Given the description of an element on the screen output the (x, y) to click on. 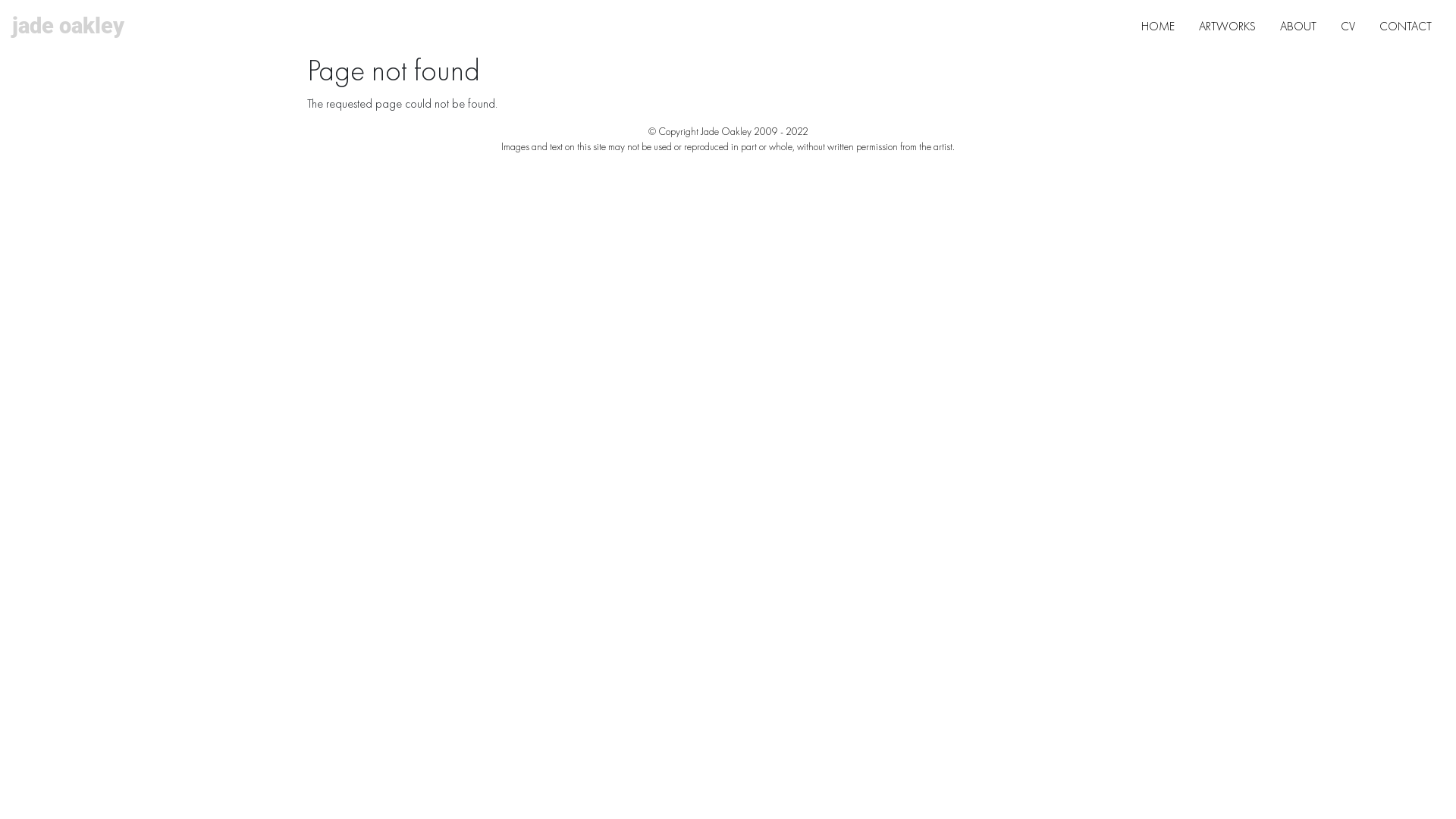
ABOUT Element type: text (1297, 26)
ARTWORKS Element type: text (1226, 26)
Skip to main content Element type: text (727, 1)
HOME Element type: text (1157, 26)
CONTACT Element type: text (1405, 26)
jade oakley Element type: text (68, 26)
CV Element type: text (1347, 26)
